Given the description of an element on the screen output the (x, y) to click on. 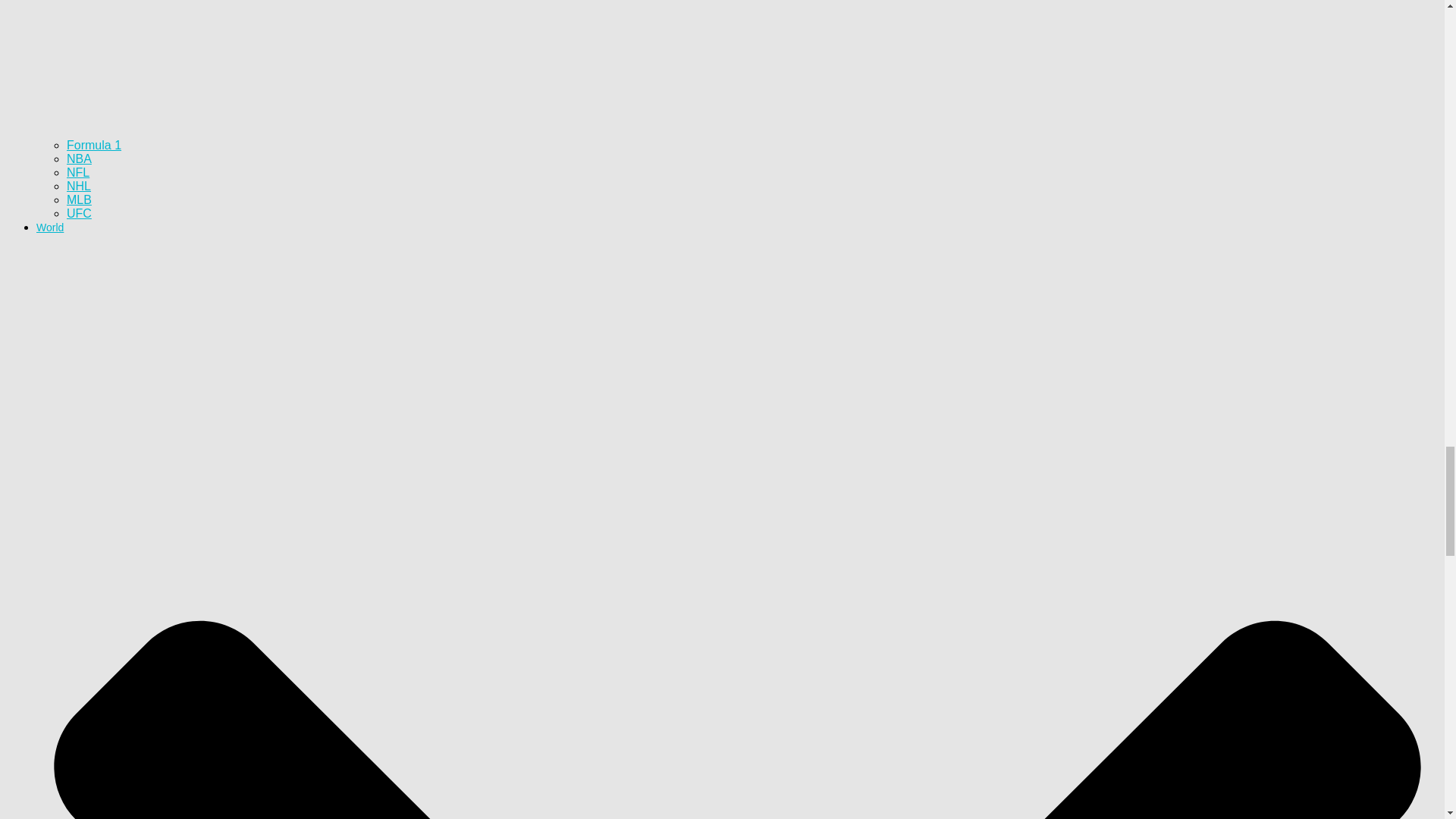
NBA (78, 158)
NFL (77, 172)
UFC (78, 213)
UFC (78, 213)
Formula 1 (93, 144)
MLB (78, 199)
NFL (77, 172)
Formula 1 (93, 144)
NBA (78, 158)
NHL (78, 185)
NHL (78, 185)
MLB (78, 199)
